Given the description of an element on the screen output the (x, y) to click on. 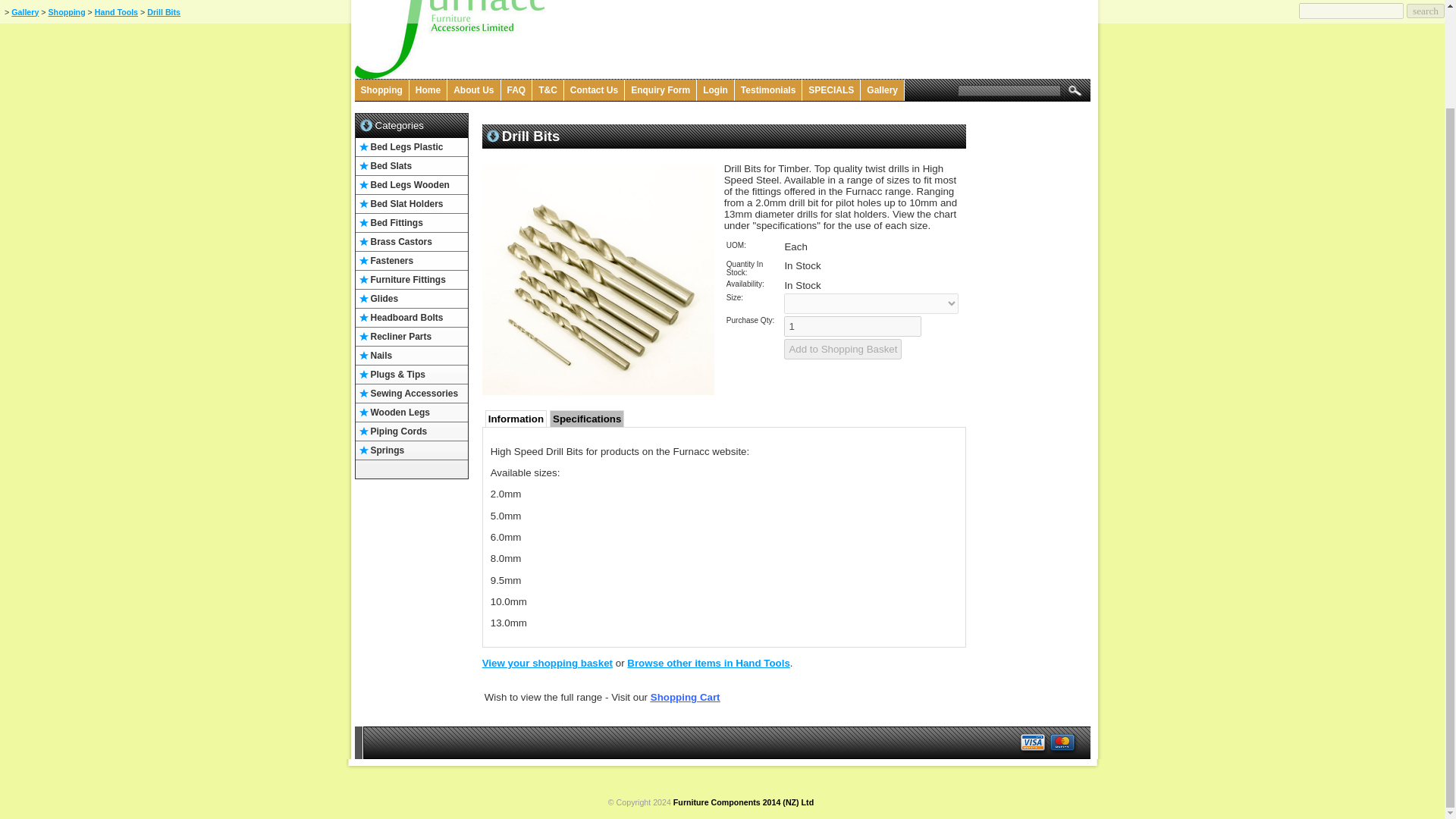
Shopping (382, 89)
1 (852, 326)
Add to Shopping Basket (842, 349)
Bed Fittings (411, 222)
Search (1071, 90)
Brass Castors (411, 241)
Furniture Fittings (411, 280)
Bed Slat Holders (411, 203)
Bed Legs Plastic (411, 147)
Bed Slats (411, 166)
Gallery (882, 89)
Testimonials (768, 89)
Home (427, 89)
About Us (473, 89)
Enquiry Form (660, 89)
